Given the description of an element on the screen output the (x, y) to click on. 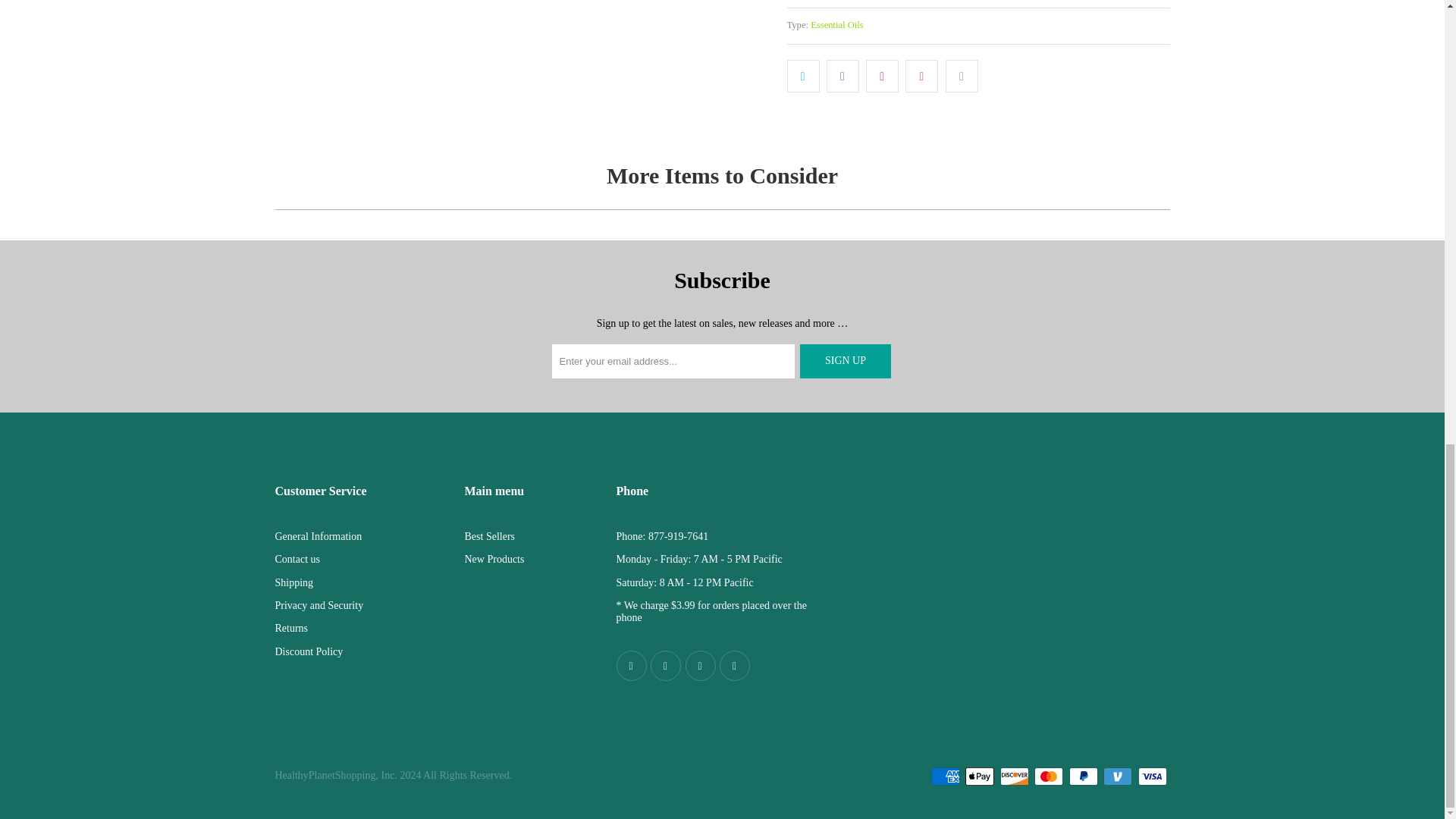
Healthy Planet Shopping on Facebook (630, 665)
Essential Oils (836, 24)
Healthy Planet Shopping on Twitter (665, 665)
Sign Up (845, 360)
tel:877-919-7641 (677, 536)
Share this on Pinterest (882, 75)
Healthy Planet Shopping on YouTube (700, 665)
Share this on Twitter (803, 75)
Share this on Facebook (843, 75)
Email this to a friend (961, 75)
Essential Oils (836, 24)
